Given the description of an element on the screen output the (x, y) to click on. 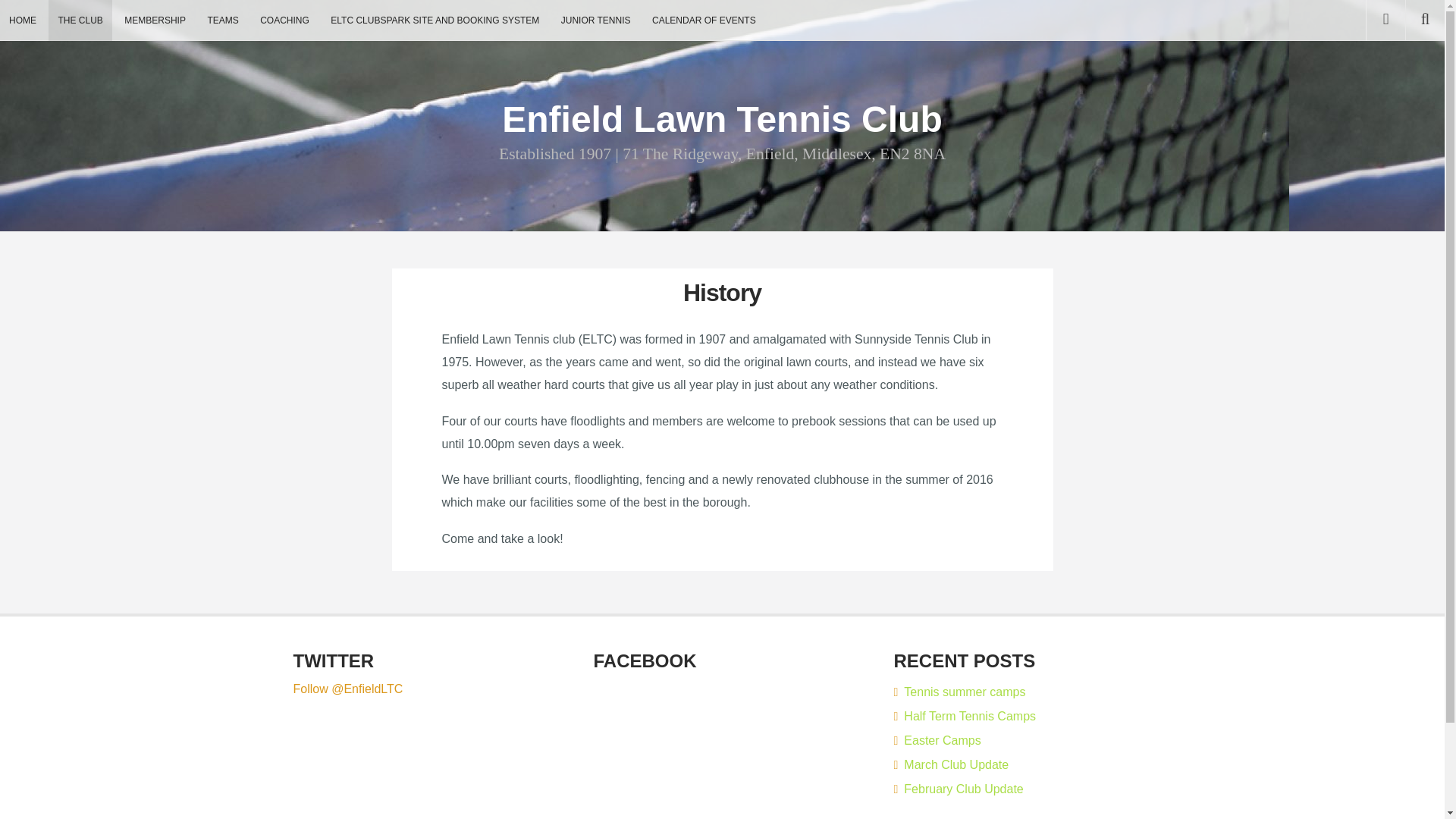
ELTC CLUBSPARK SITE AND BOOKING SYSTEM (434, 20)
TEAMS (222, 20)
HOME (22, 20)
MEMBERSHIP (155, 20)
JUNIOR TENNIS (595, 20)
Tennis summer camps (959, 691)
COACHING (284, 20)
CALENDAR OF EVENTS (704, 20)
February Club Update (958, 788)
